Given the description of an element on the screen output the (x, y) to click on. 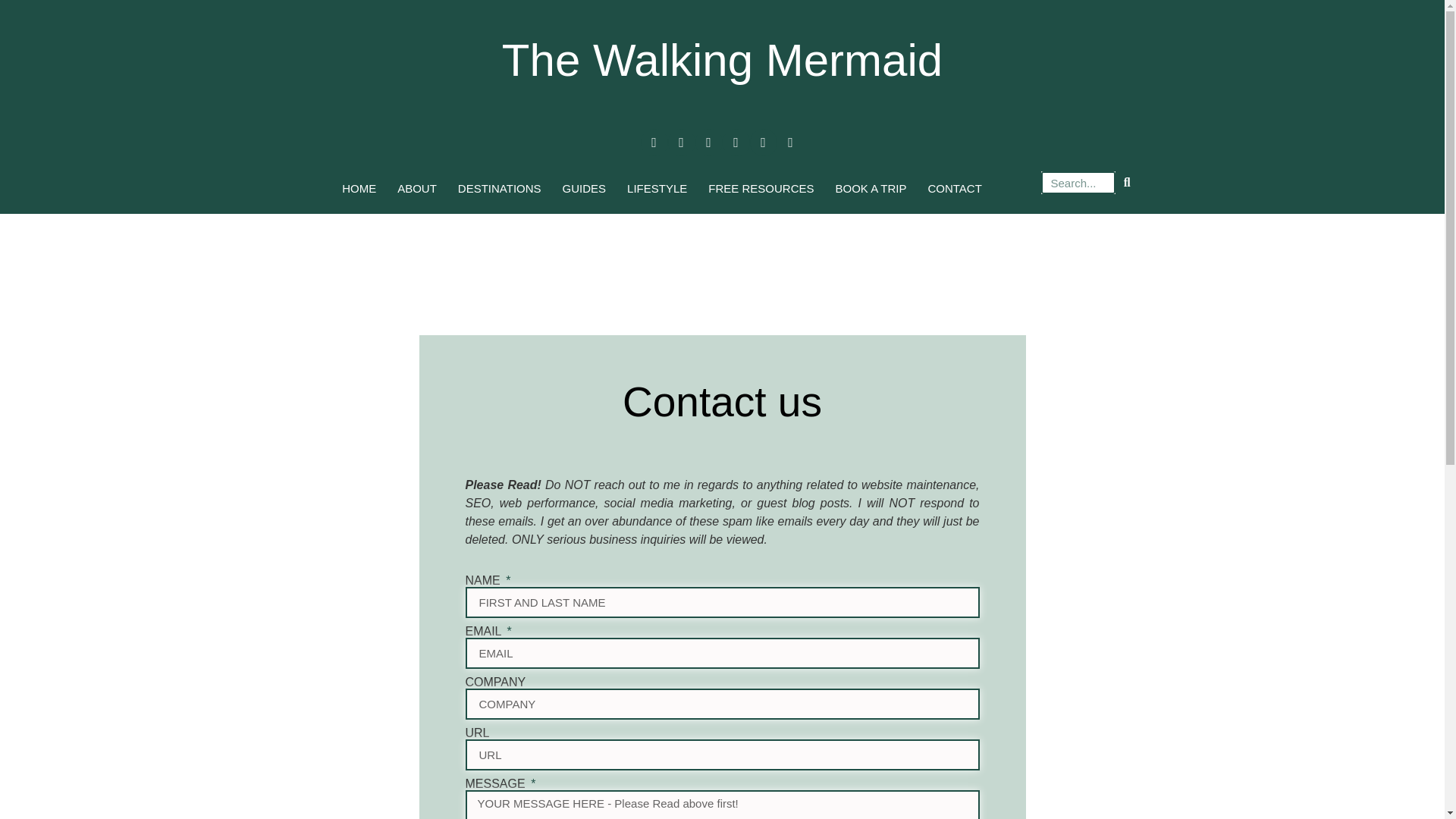
LIFESTYLE (656, 188)
GUIDES (584, 188)
DESTINATIONS (498, 188)
HOME (359, 188)
The Walking Mermaid (722, 60)
ABOUT (416, 188)
